Given the description of an element on the screen output the (x, y) to click on. 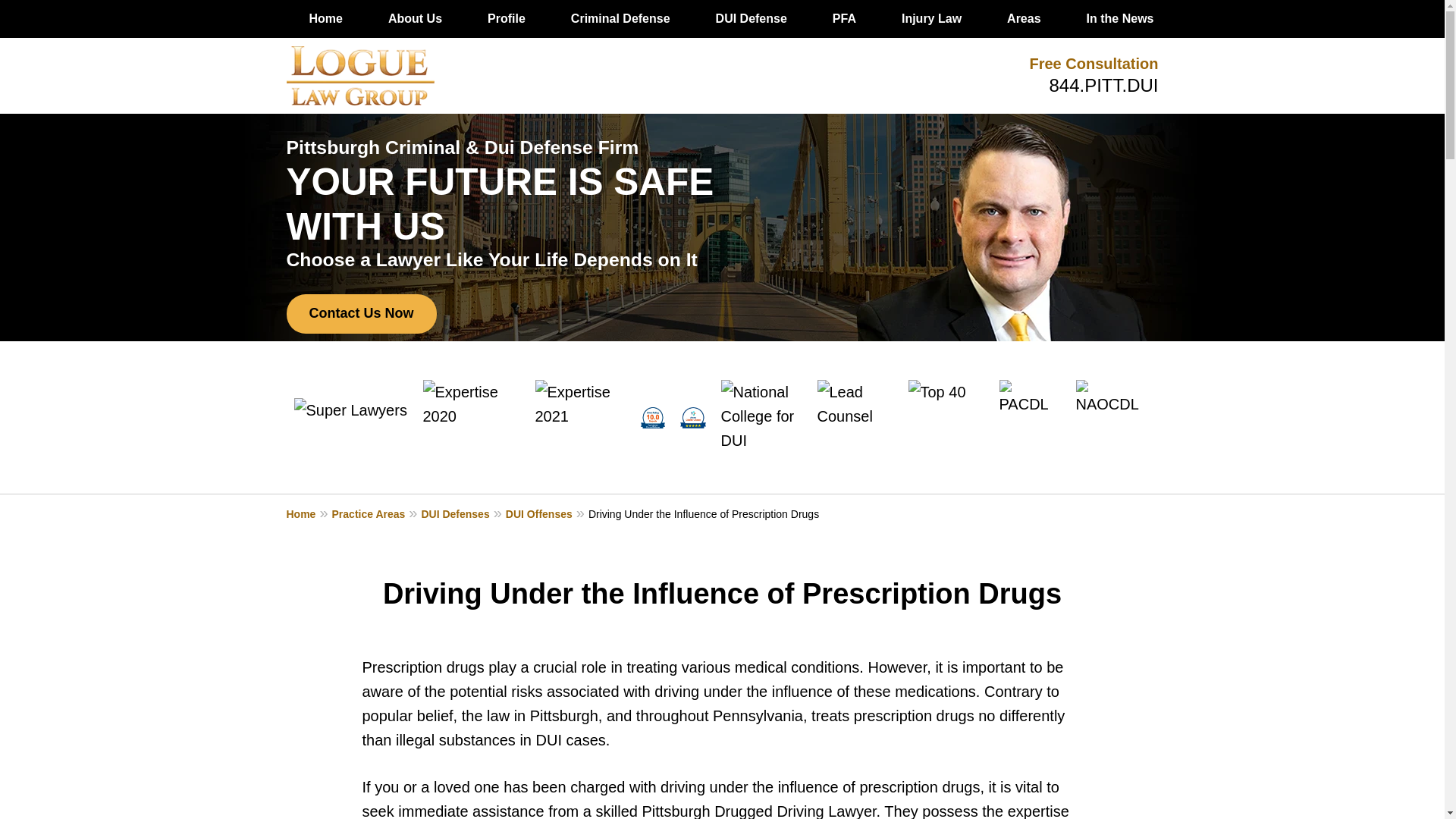
DUI Offenses (546, 513)
About Us (414, 18)
In the News (1120, 18)
Profile (506, 18)
844.PITT.DUI (1102, 85)
Practice Areas (376, 513)
Blog (1343, 18)
Areas (1023, 18)
Criminal Defense (620, 18)
Home (325, 18)
PFA (844, 18)
DUI Defense (751, 18)
Home (308, 513)
Contact Us Now (361, 313)
Injury Law (931, 18)
